Given the description of an element on the screen output the (x, y) to click on. 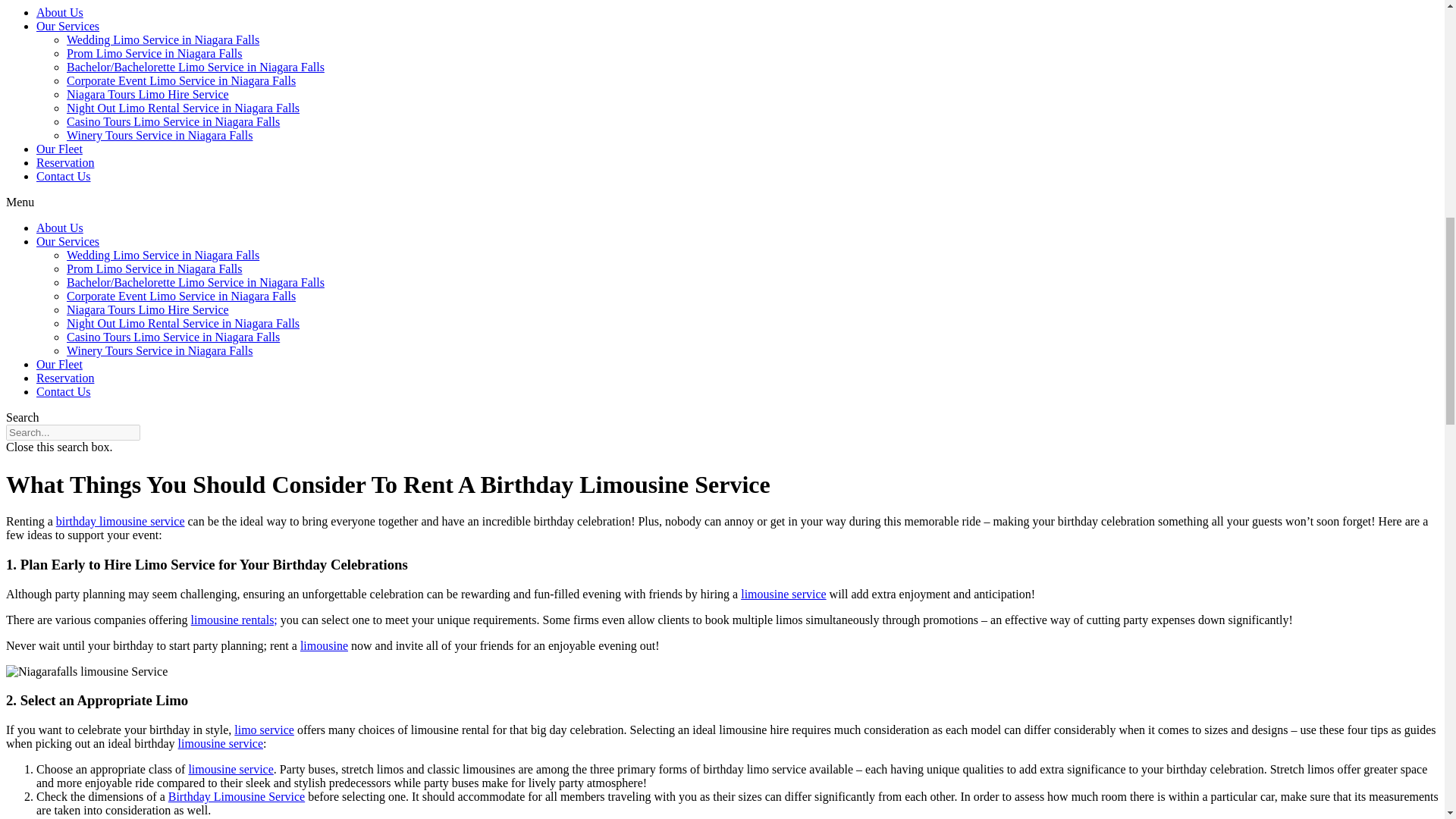
Search (72, 432)
About Us (59, 11)
Our Services (67, 25)
Wedding Limo Service in Niagara Falls (162, 39)
